Given the description of an element on the screen output the (x, y) to click on. 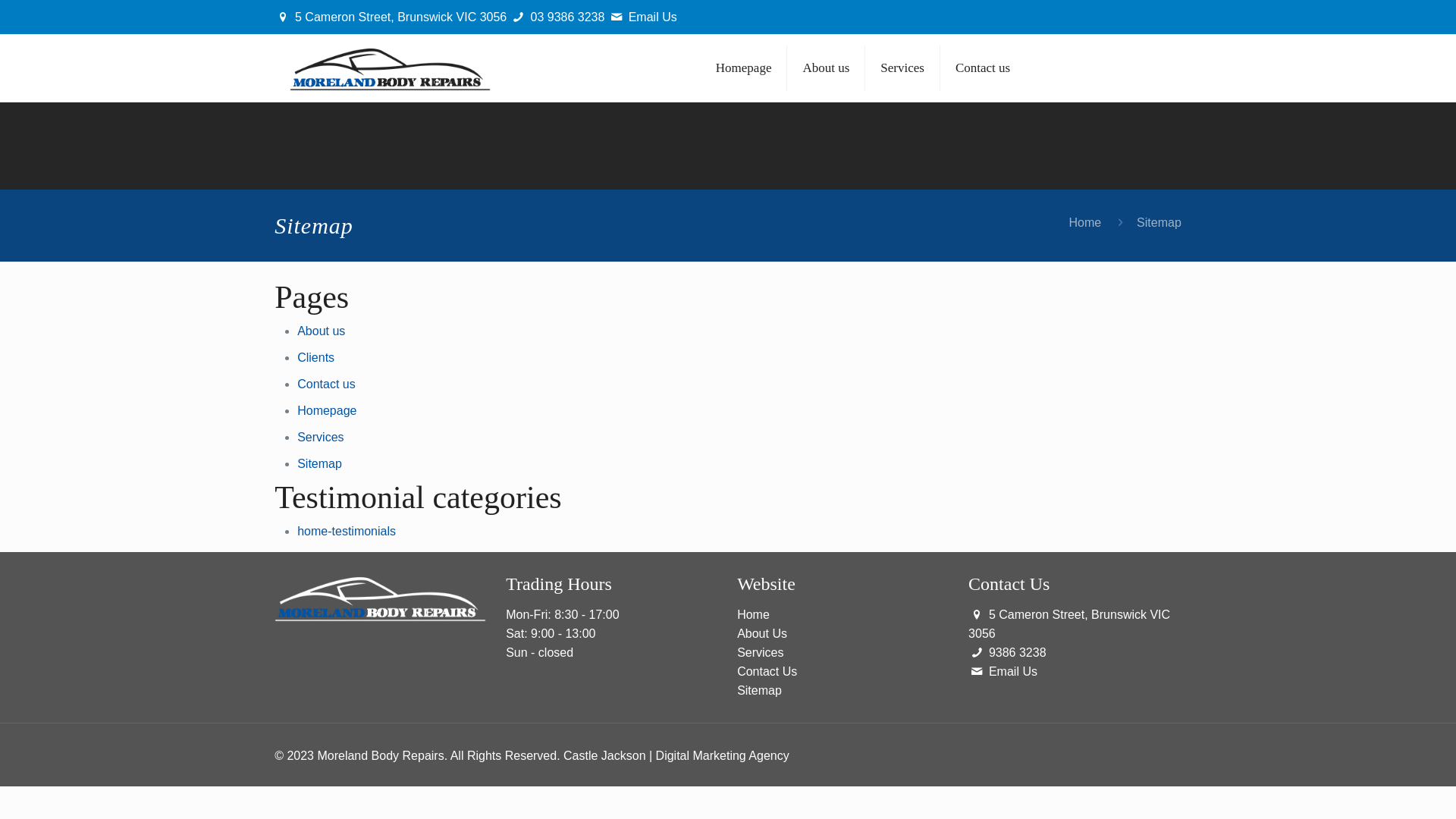
Services Element type: text (902, 68)
Digital Marketing Agency Element type: text (722, 755)
Email Us Element type: text (652, 16)
Email Us Element type: text (1012, 671)
About us Element type: text (321, 330)
Services Element type: text (760, 652)
Sitemap Element type: text (759, 690)
9386 3238 Element type: text (1017, 652)
Homepage Element type: text (326, 410)
Contact us Element type: text (325, 383)
Home Element type: text (1085, 222)
03 9386 3238 Element type: text (567, 16)
Contact Us Element type: text (767, 671)
Moreland Body Repairs Element type: hover (390, 68)
Clients Element type: text (315, 357)
About us Element type: text (826, 68)
Homepage Element type: text (743, 68)
Services Element type: text (320, 436)
Home Element type: text (753, 614)
About Us Element type: text (762, 633)
Contact us Element type: text (982, 68)
home-testimonials Element type: text (346, 530)
Sitemap Element type: text (319, 463)
